Given the description of an element on the screen output the (x, y) to click on. 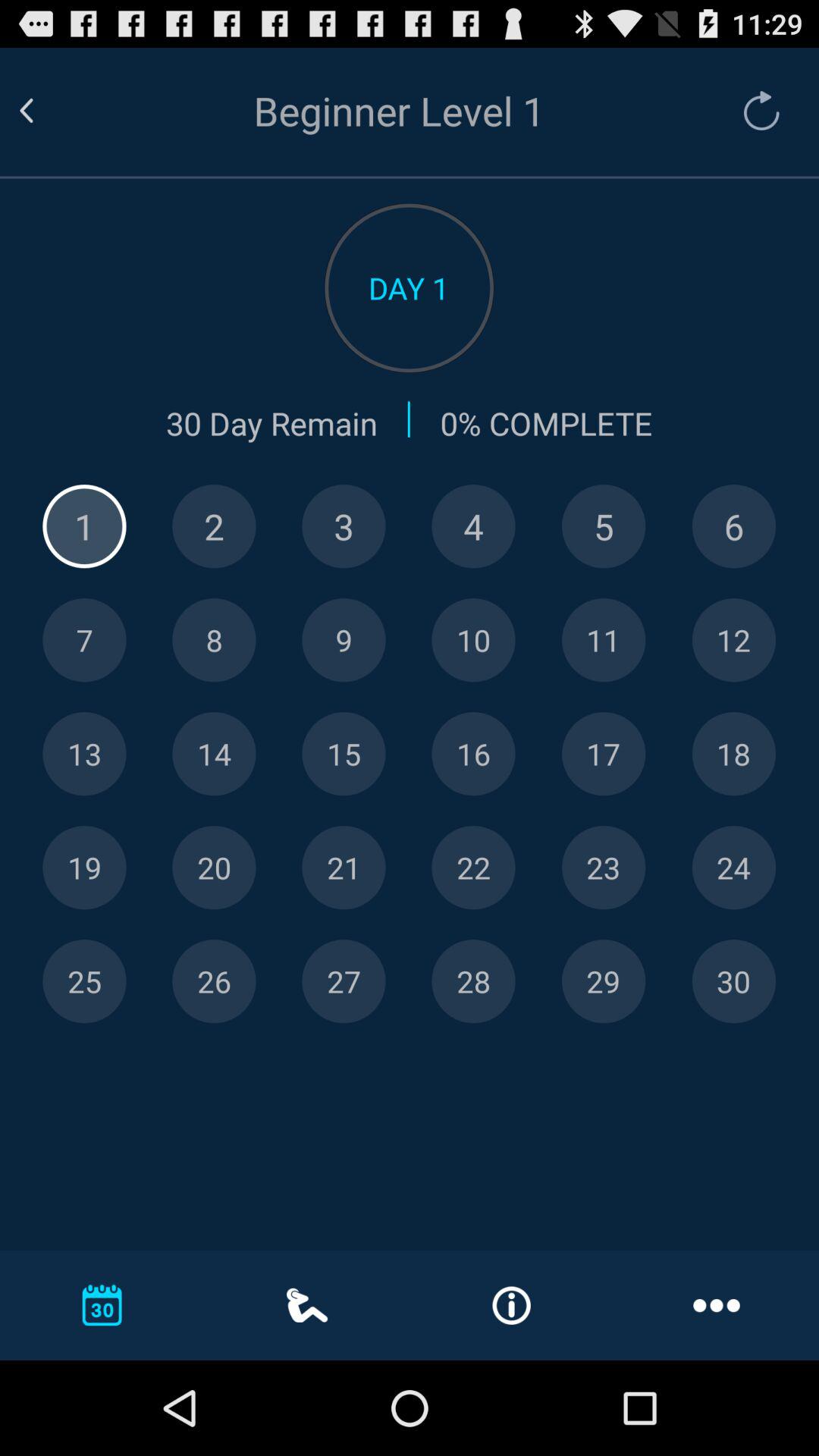
select day 3 (343, 526)
